Given the description of an element on the screen output the (x, y) to click on. 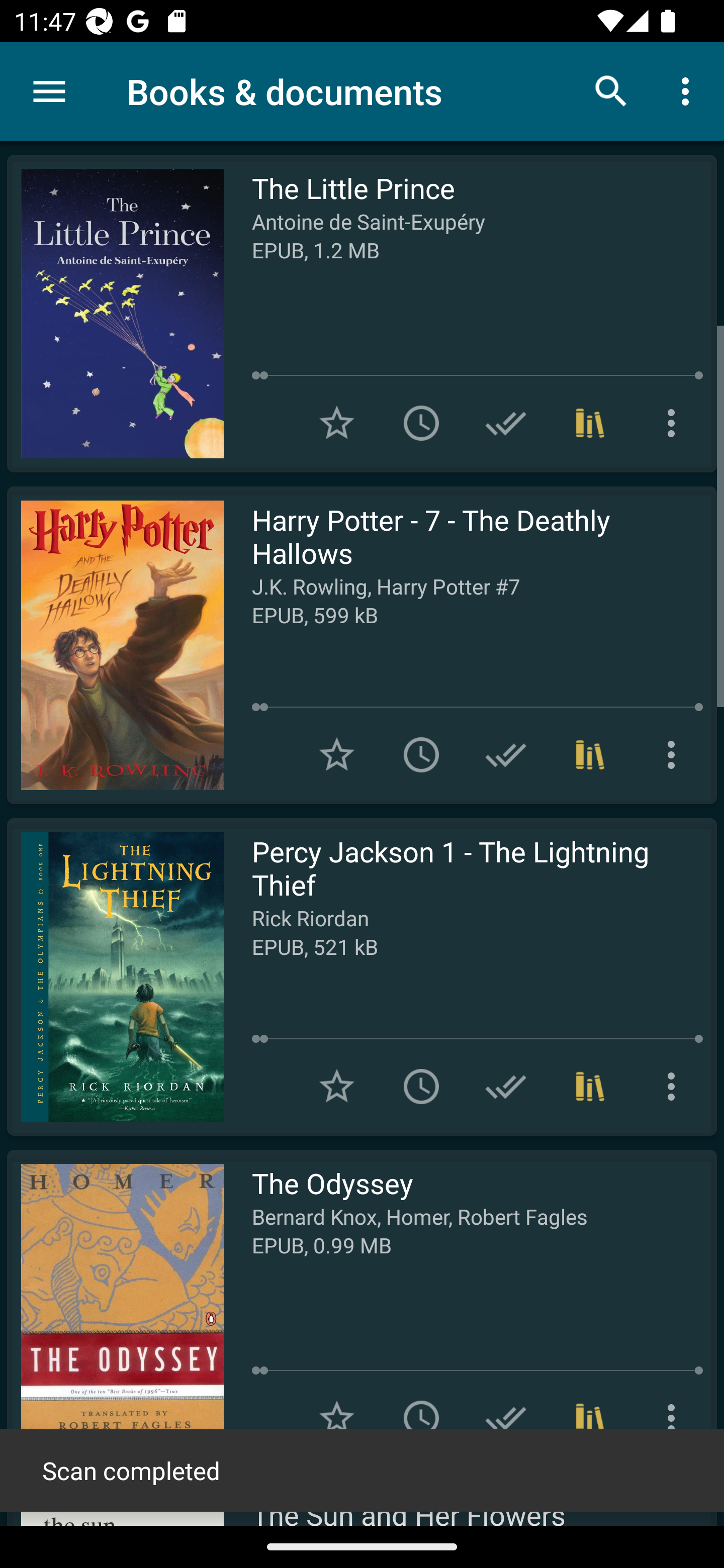
Menu (49, 91)
Search books & documents (611, 90)
More options (688, 90)
Read The Little Prince (115, 313)
Add to Favorites (336, 423)
Add to To read (421, 423)
Add to Have read (505, 423)
Collections (1) (590, 423)
More options (674, 423)
Read Harry Potter - 7 - The Deathly Hallows (115, 645)
Add to Favorites (336, 753)
Add to To read (421, 753)
Add to Have read (505, 753)
Collections (1) (590, 753)
More options (674, 753)
Read Percy Jackson 1 - The Lightning Thief (115, 976)
Add to Favorites (336, 1086)
Add to To read (421, 1086)
Add to Have read (505, 1086)
Collections (1) (590, 1086)
More options (674, 1086)
Read The Odyssey (115, 1308)
Add to Favorites (336, 1417)
Add to To read (421, 1417)
Add to Have read (505, 1417)
Collections (1) (590, 1417)
More options (674, 1417)
